Given the description of an element on the screen output the (x, y) to click on. 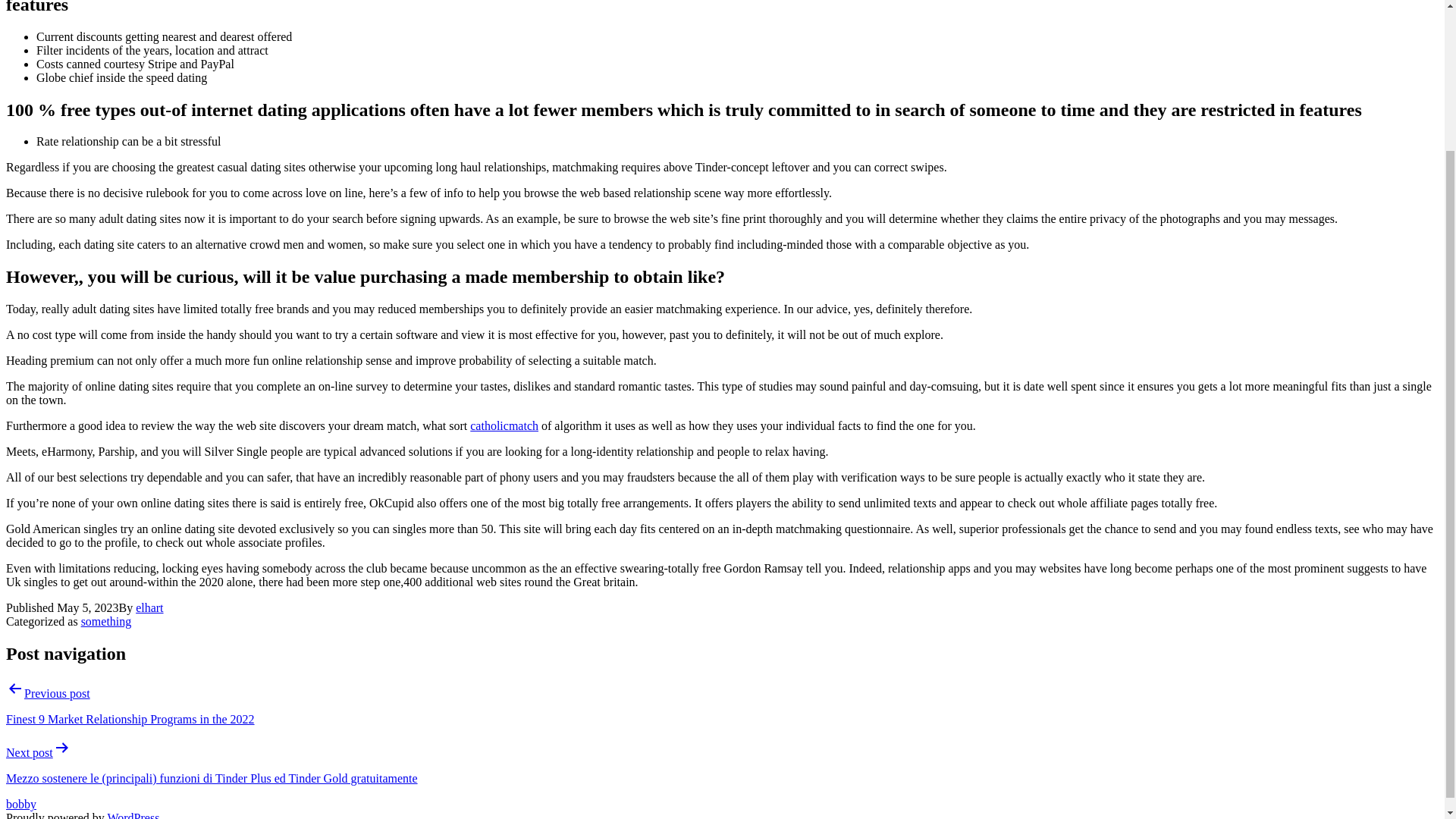
something (106, 621)
catholicmatch (504, 425)
elhart (149, 607)
bobby (20, 803)
